Given the description of an element on the screen output the (x, y) to click on. 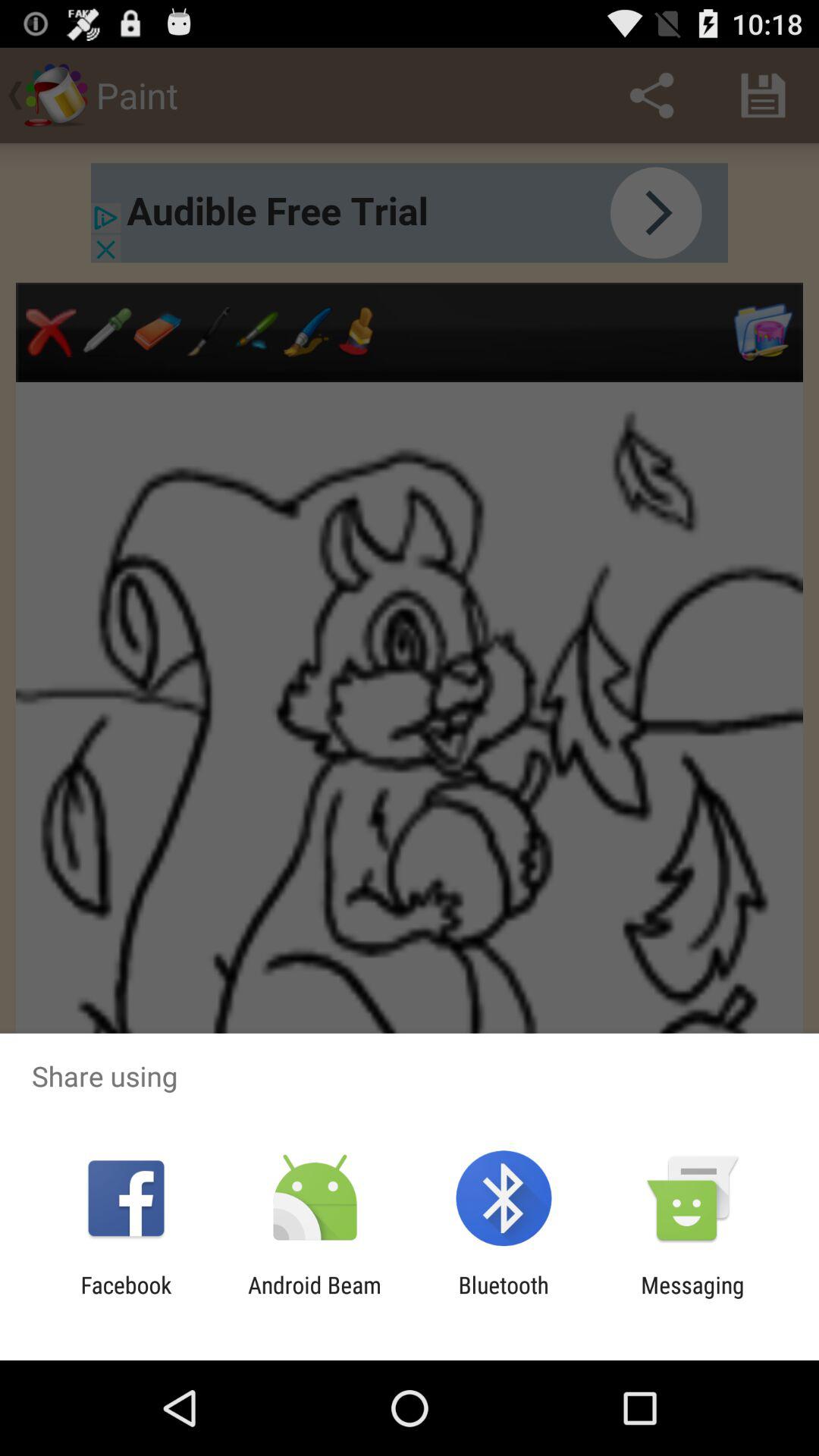
turn off item to the right of the android beam app (503, 1298)
